Given the description of an element on the screen output the (x, y) to click on. 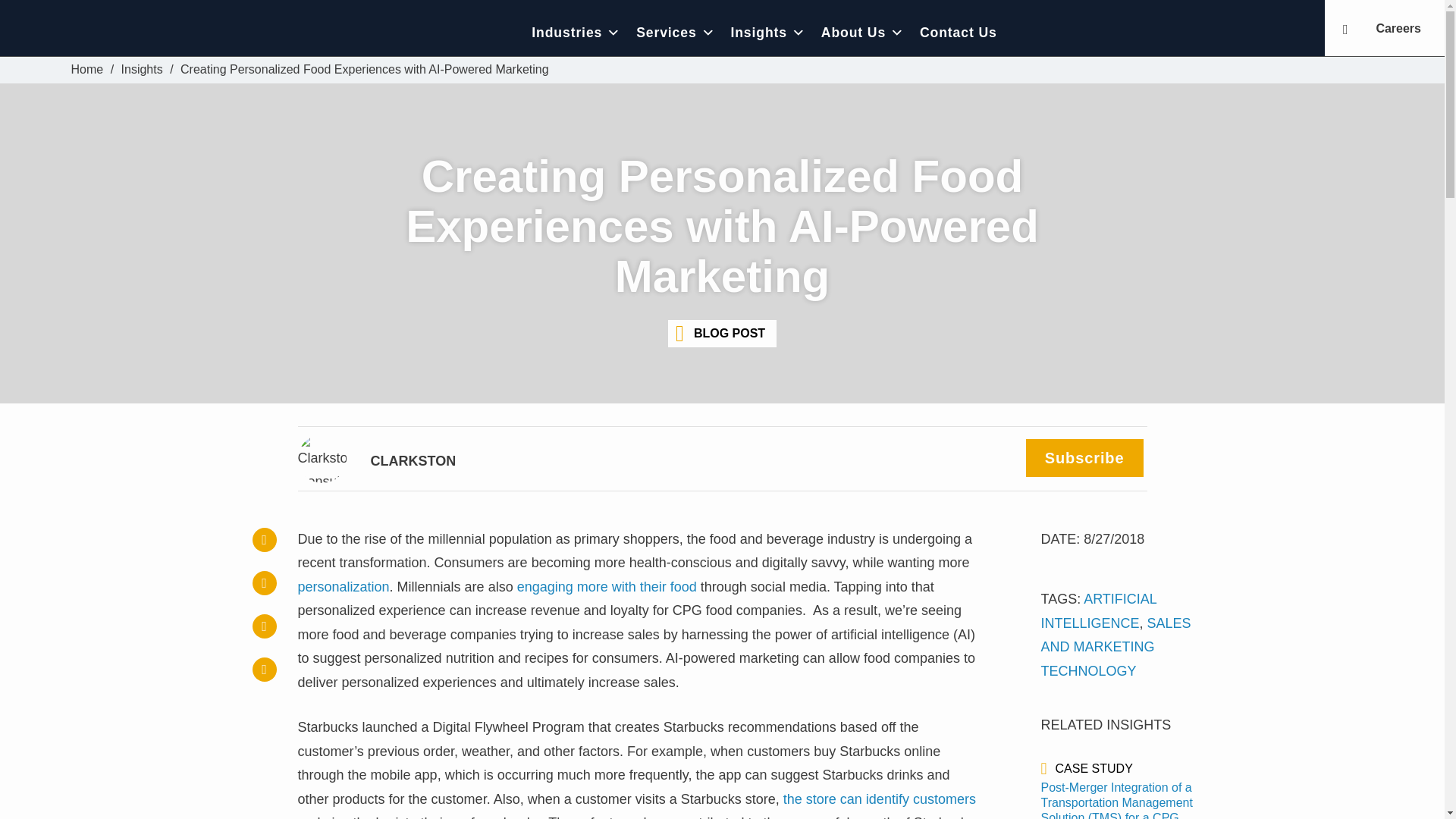
Industries (576, 32)
Services (675, 32)
Clarkston Consulting (87, 69)
Insights (141, 69)
Clarkston Consulting (176, 31)
